Given the description of an element on the screen output the (x, y) to click on. 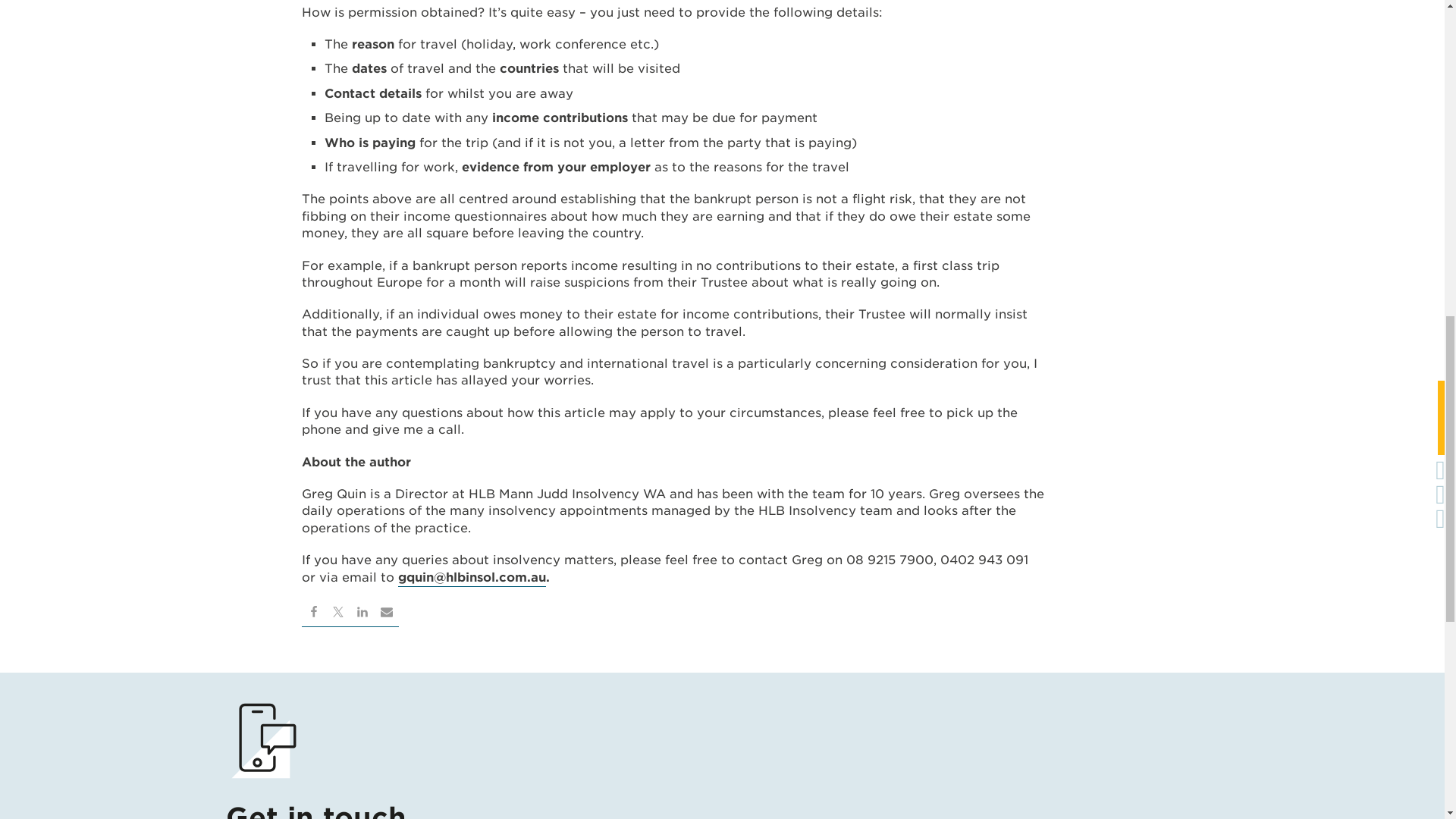
Share on Twitter (338, 614)
Share via Email (386, 614)
Share on Facebook (313, 614)
Share on LinkedIn (362, 614)
